Given the description of an element on the screen output the (x, y) to click on. 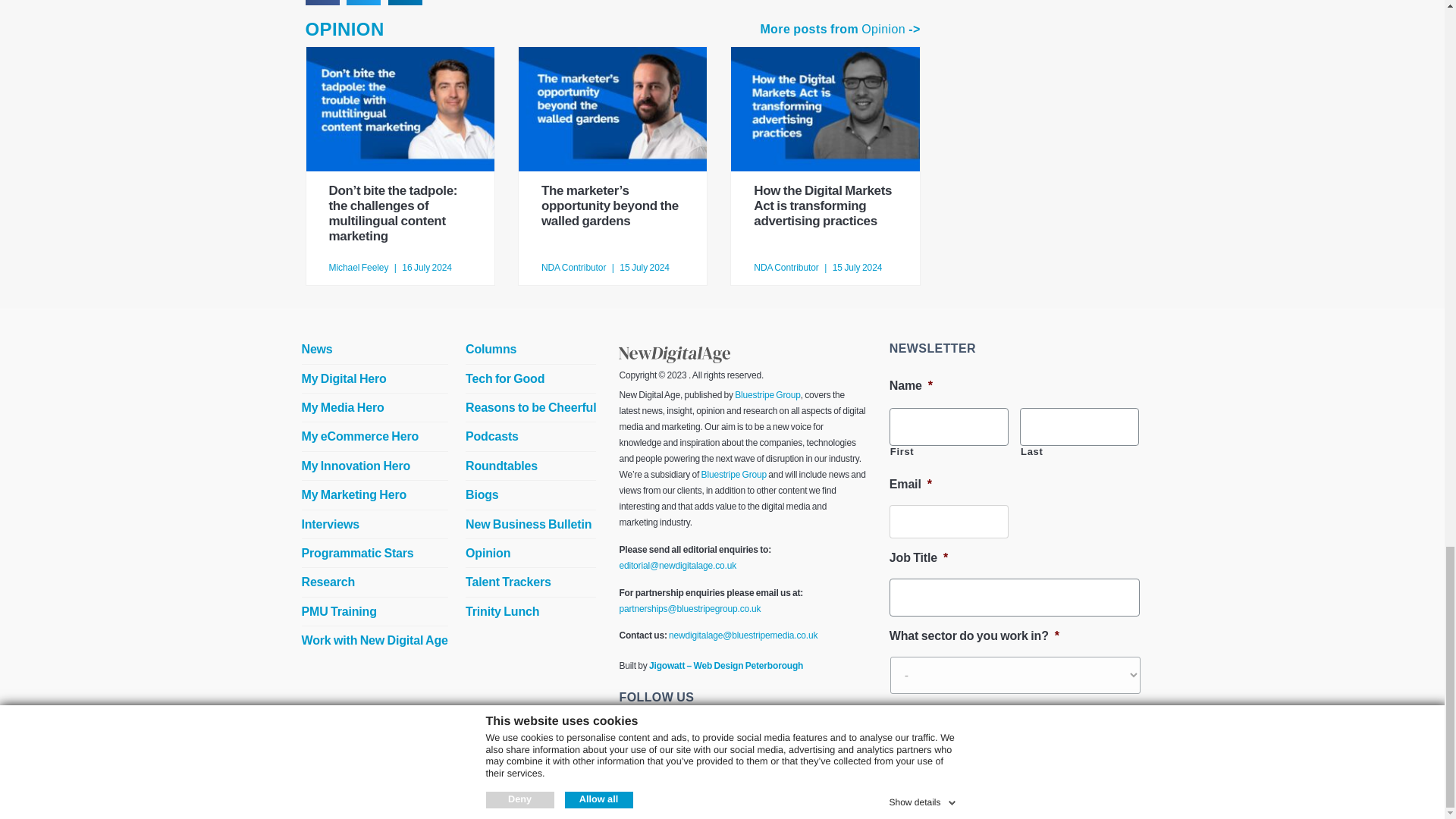
Sign up (927, 725)
